Given the description of an element on the screen output the (x, y) to click on. 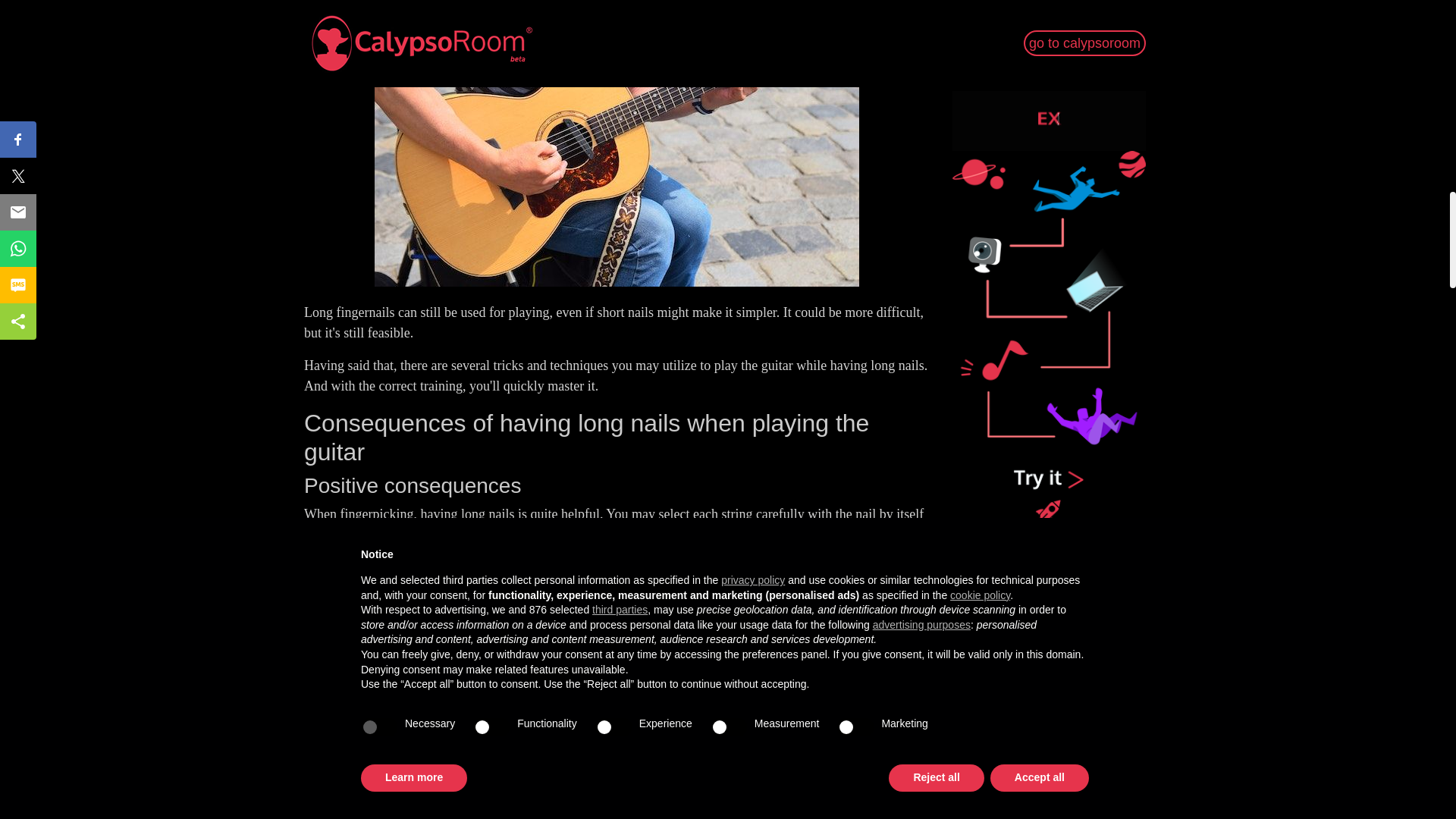
fingerstyle guitar playing (623, 566)
